Given the description of an element on the screen output the (x, y) to click on. 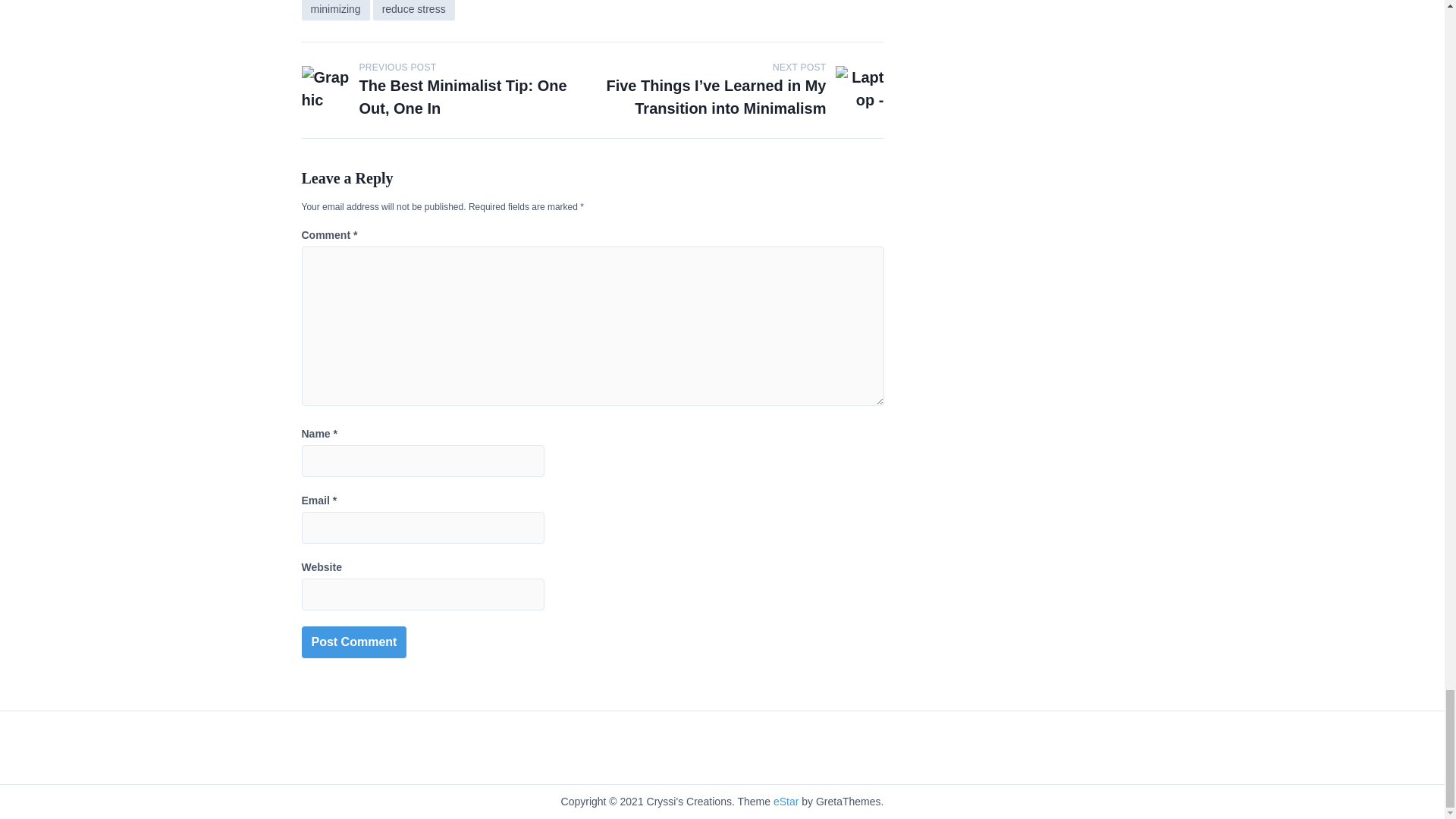
The Best Minimalist Tip: One Out, One In (325, 90)
eStar (785, 801)
minimizing (335, 10)
Post Comment (354, 642)
reduce stress (413, 10)
The Best Minimalist Tip: One Out, One In (463, 96)
Post Comment (354, 642)
